Given the description of an element on the screen output the (x, y) to click on. 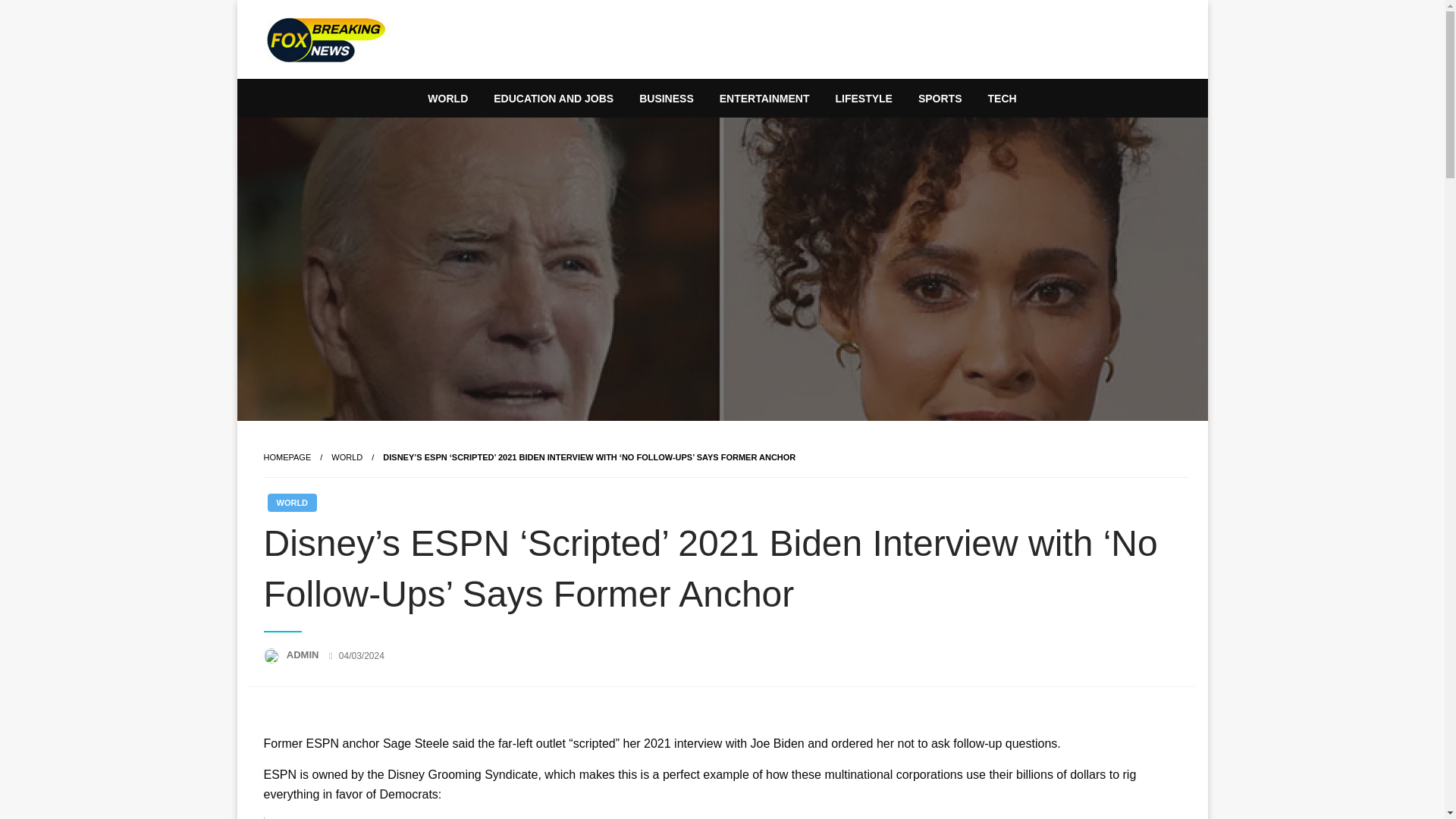
TECH (1002, 98)
EDUCATION AND JOBS (553, 98)
ENTERTAINMENT (764, 98)
BUSINESS (666, 98)
World (346, 456)
ADMIN (303, 654)
Homepage (287, 456)
WORLD (447, 98)
ADMIN (303, 654)
SPORTS (940, 98)
WORLD (291, 502)
WORLD (346, 456)
HOMEPAGE (287, 456)
LIFESTYLE (863, 98)
